Given the description of an element on the screen output the (x, y) to click on. 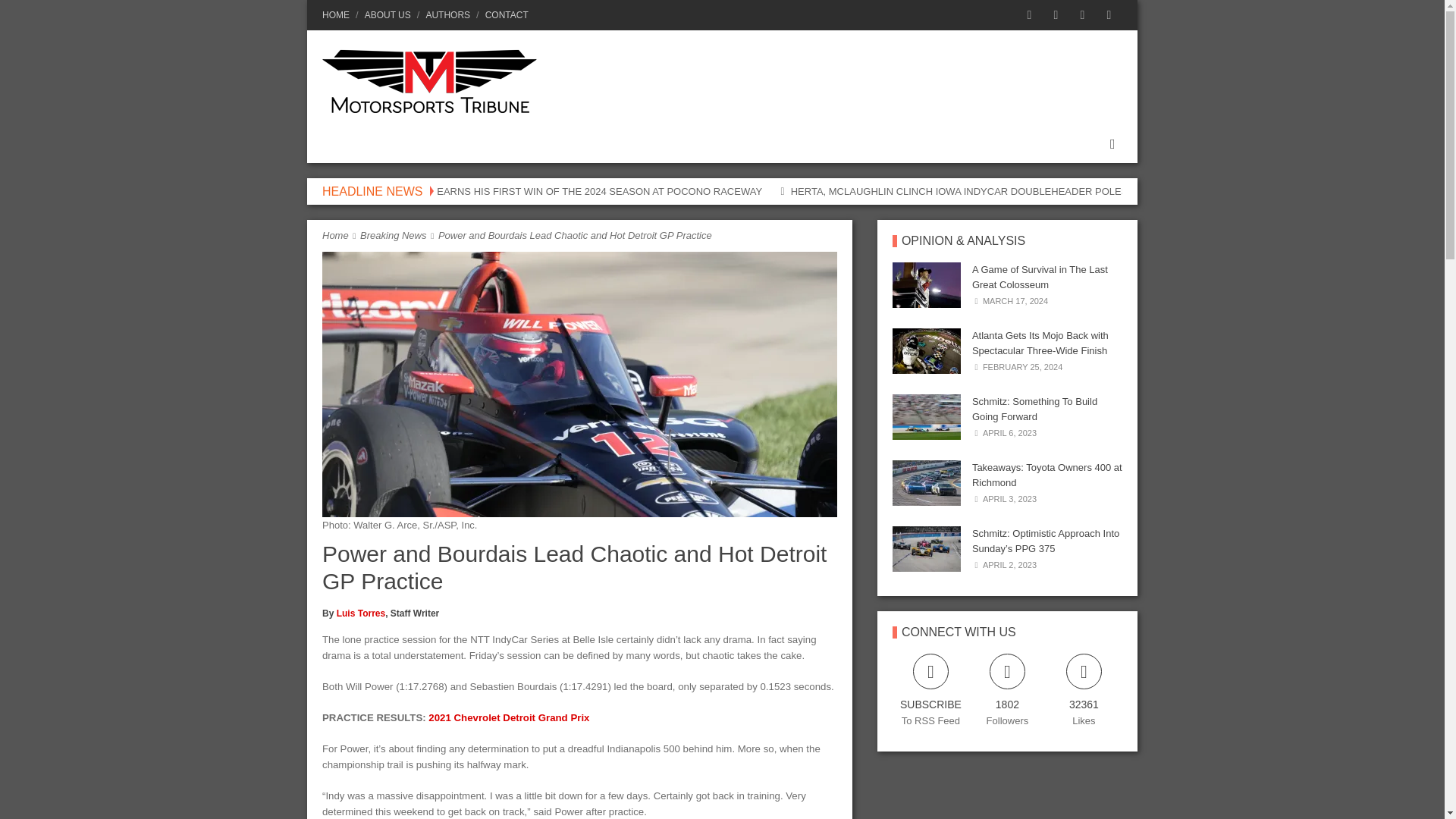
FEATURES (652, 143)
Home (335, 235)
CONTACT (503, 14)
INDYCAR (427, 143)
ABOUT US (387, 14)
AUTHORS (447, 14)
NASCAR (347, 143)
HOME (338, 14)
MULTIMEDIA (748, 143)
HERTA, MCLAUGHLIN CLINCH IOWA INDYCAR DOUBLEHEADER POLES (959, 191)
Breaking News (392, 235)
DRIVER COLUMNS (536, 143)
